Given the description of an element on the screen output the (x, y) to click on. 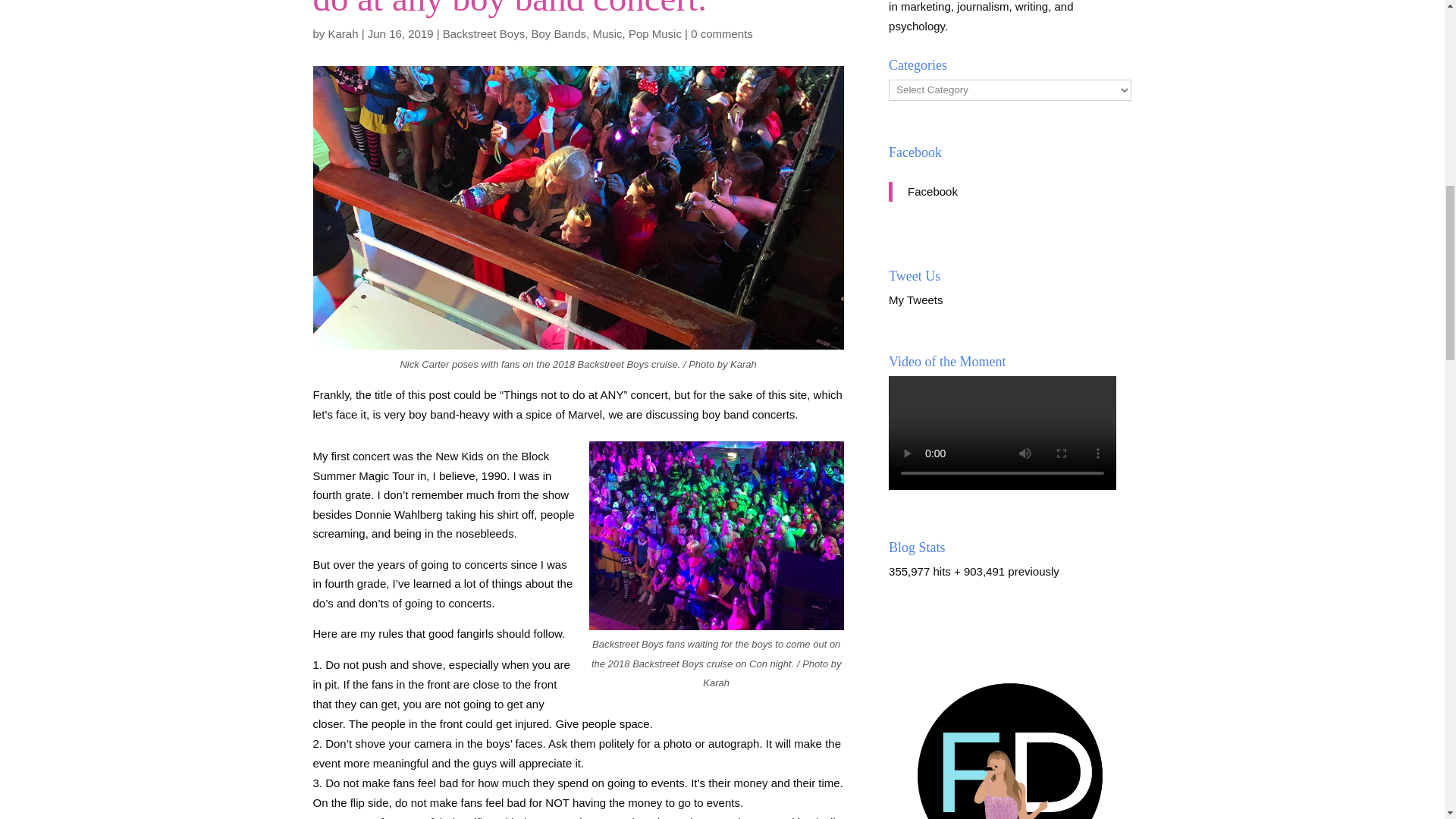
0 comments (721, 33)
Boy Bands (558, 33)
Backstreet Boys (483, 33)
Music (606, 33)
Pop Music (654, 33)
Posts by Karah (343, 33)
Karah (343, 33)
